Given the description of an element on the screen output the (x, y) to click on. 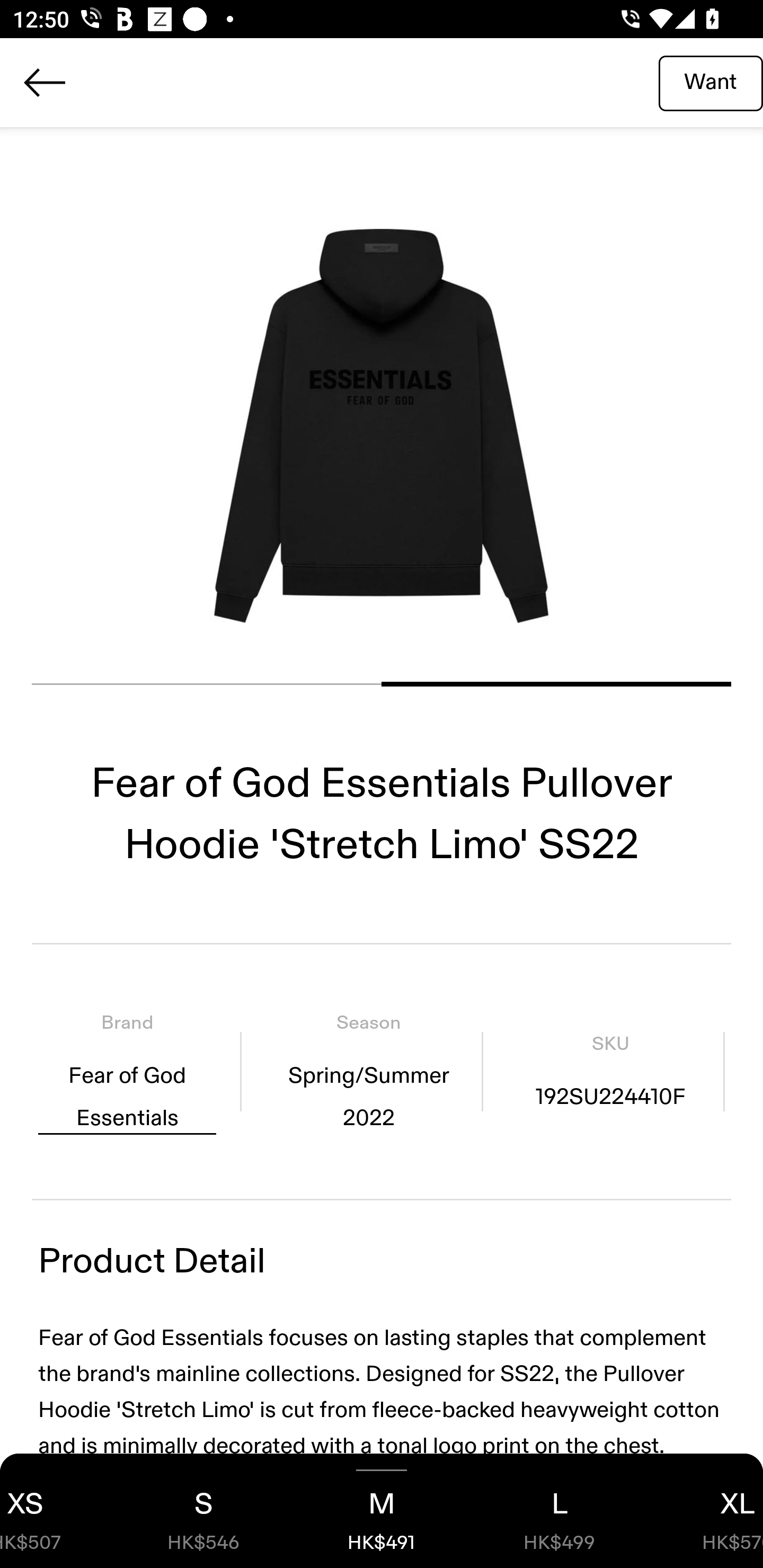
Want (710, 82)
Brand Fear of God Essentials (126, 1070)
Season Spring/Summer 2022 (368, 1070)
SKU 192SU224410F (609, 1070)
XS HK$507 (57, 1510)
S HK$546 (203, 1510)
M HK$491 (381, 1510)
L HK$499 (559, 1510)
XL HK$570 (705, 1510)
